Given the description of an element on the screen output the (x, y) to click on. 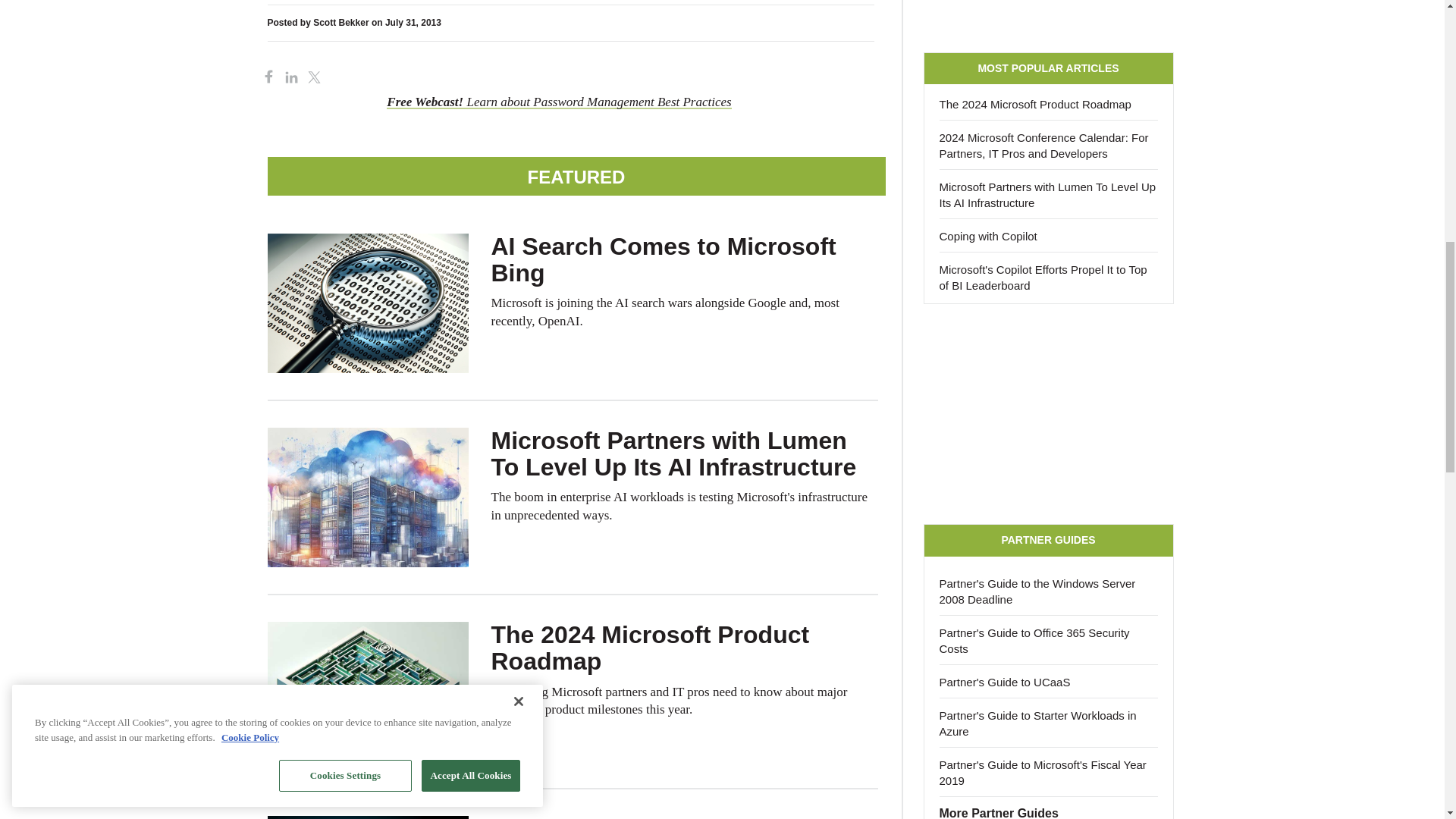
3rd party ad content (1047, 18)
3rd party ad content (1047, 413)
